Given the description of an element on the screen output the (x, y) to click on. 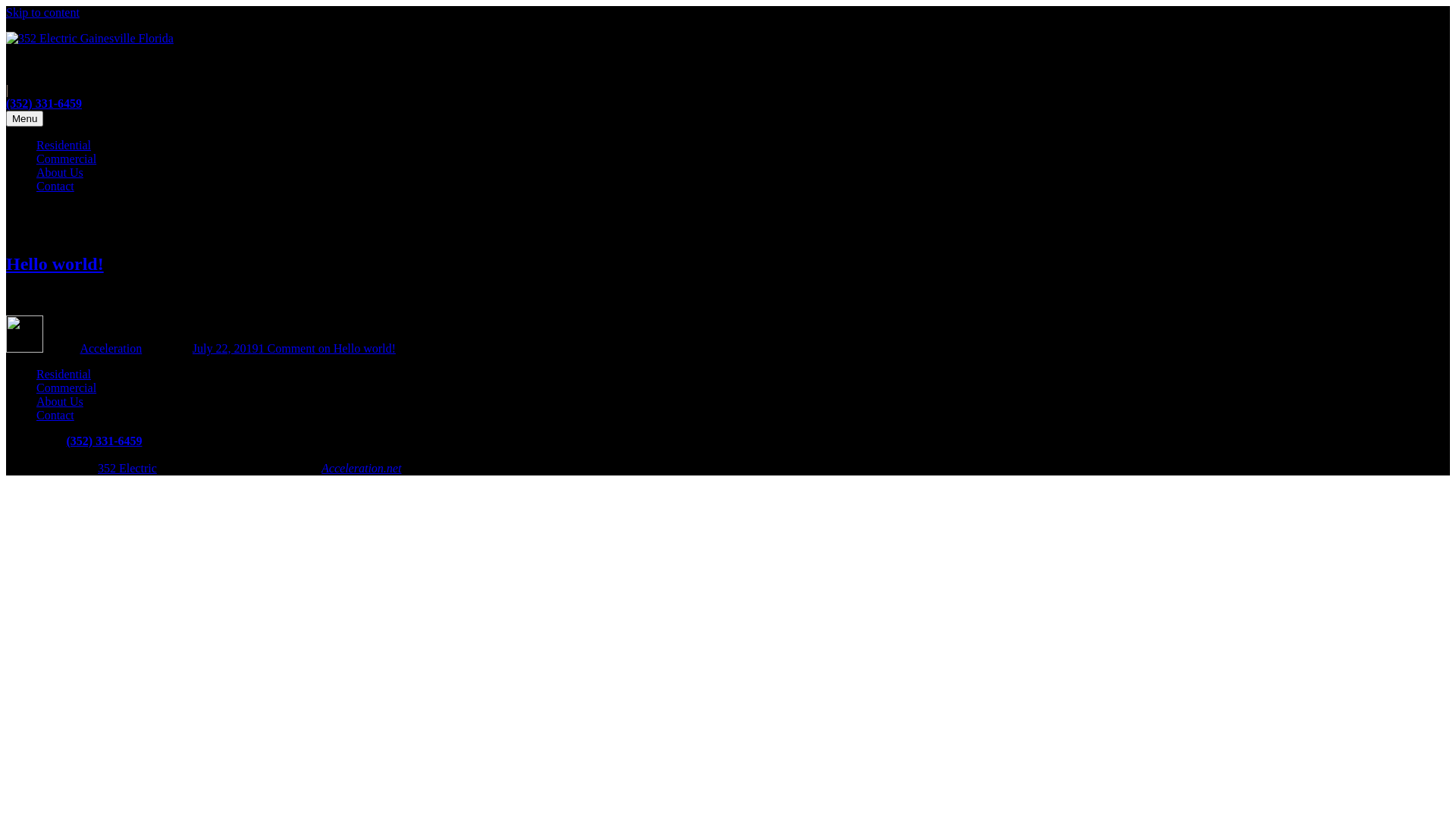
Contact Element type: text (55, 414)
About Us Element type: text (59, 401)
Residential Element type: text (63, 144)
July 22, 2019 Element type: text (225, 348)
Skip to content Element type: text (42, 12)
Acceleration Element type: text (110, 348)
(352) 331-6459 Element type: text (103, 440)
Acceleration.net Element type: text (361, 467)
Residential Element type: text (63, 373)
Menu Element type: text (24, 118)
(352) 331-6459 Element type: text (43, 103)
1 Comment on Hello world! Element type: text (326, 348)
Commercial Element type: text (66, 158)
Hello world! Element type: text (54, 263)
Commercial Element type: text (66, 387)
Contact Element type: text (55, 185)
352 Electric Element type: text (126, 467)
About Us Element type: text (59, 172)
